Given the description of an element on the screen output the (x, y) to click on. 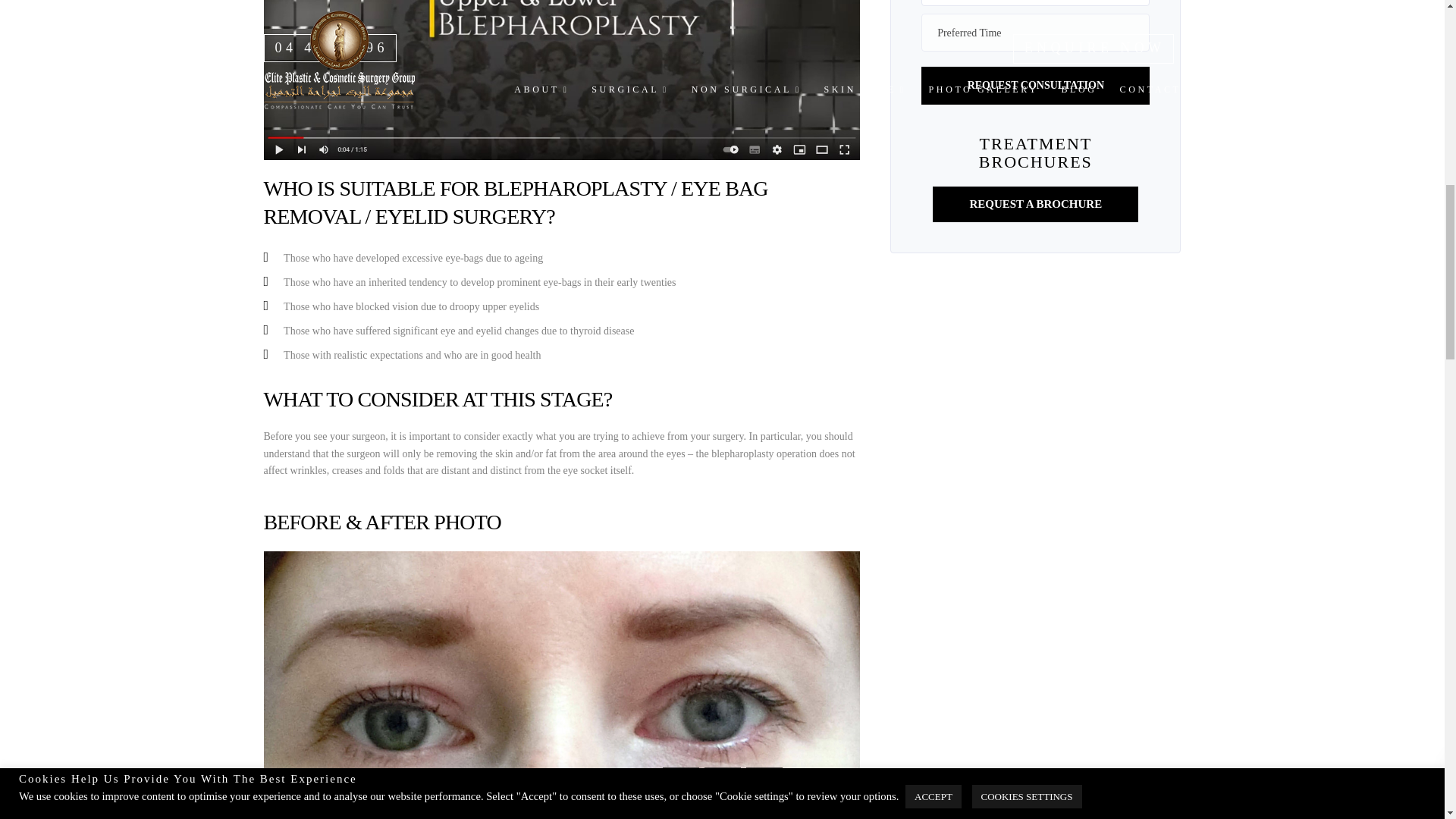
Request Consultation (1035, 85)
